Given the description of an element on the screen output the (x, y) to click on. 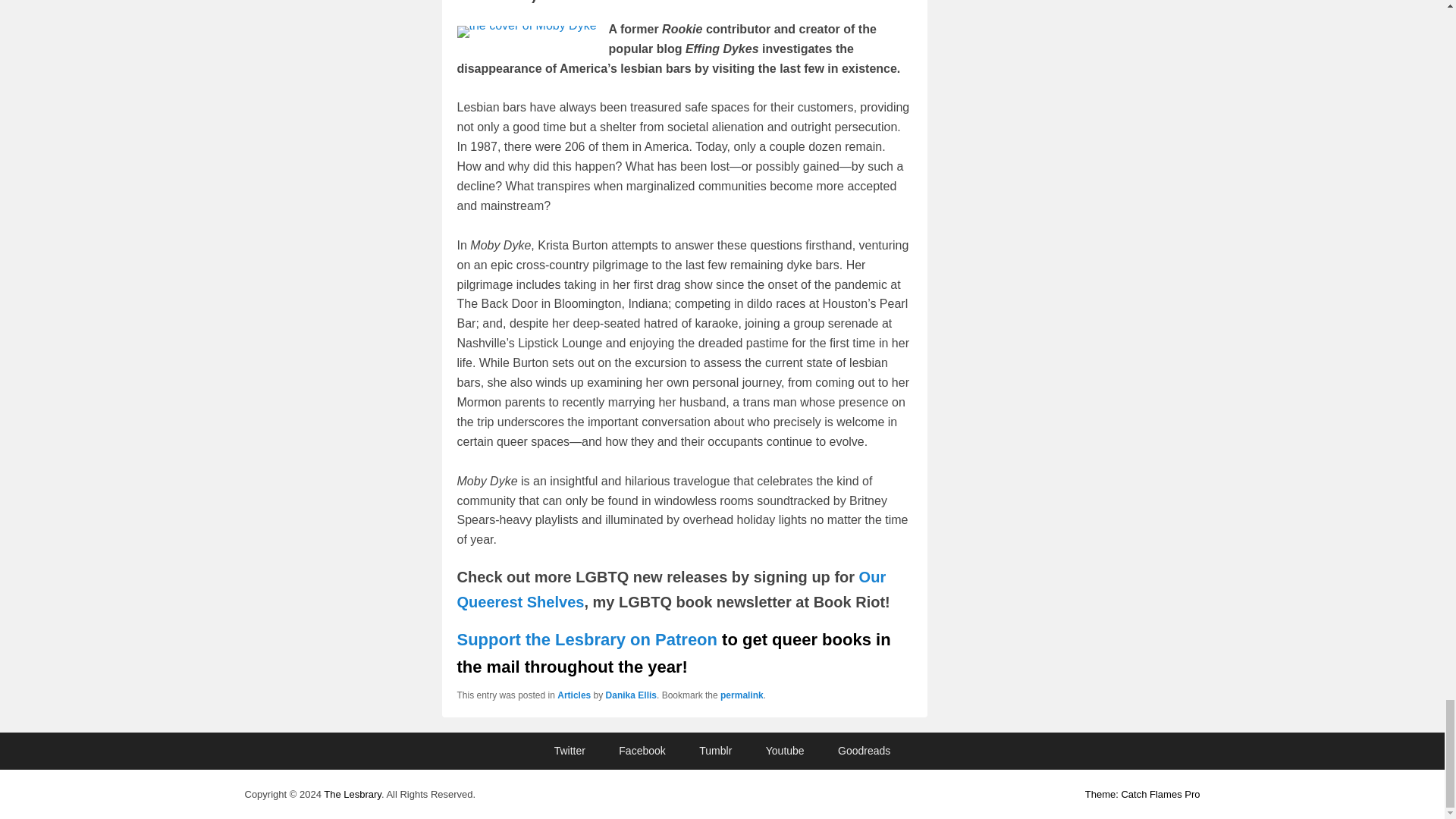
The Lesbrary (352, 794)
Theme: Catch Flames Pro (1141, 794)
